Given the description of an element on the screen output the (x, y) to click on. 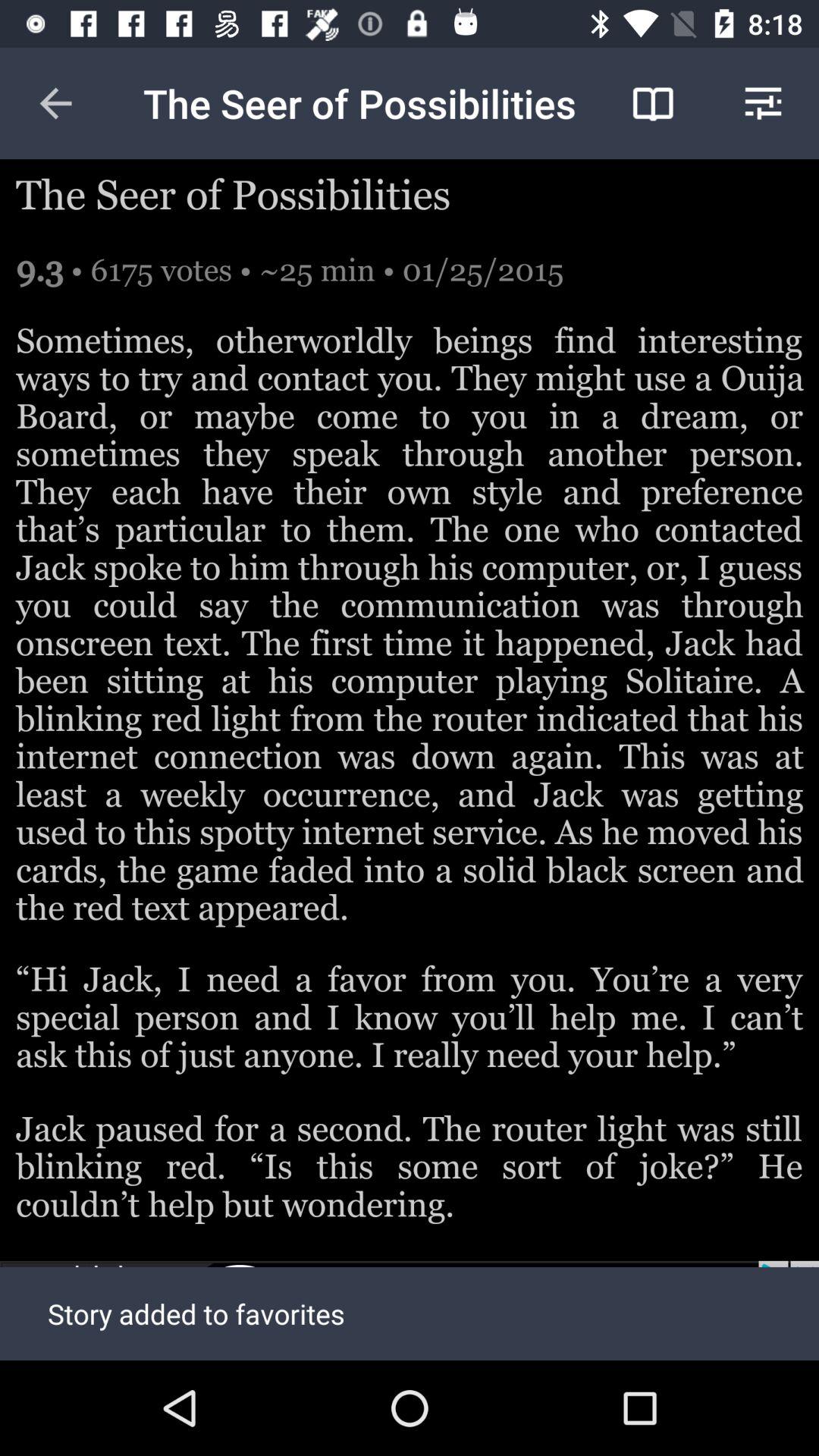
story added to favorites (409, 1310)
